Given the description of an element on the screen output the (x, y) to click on. 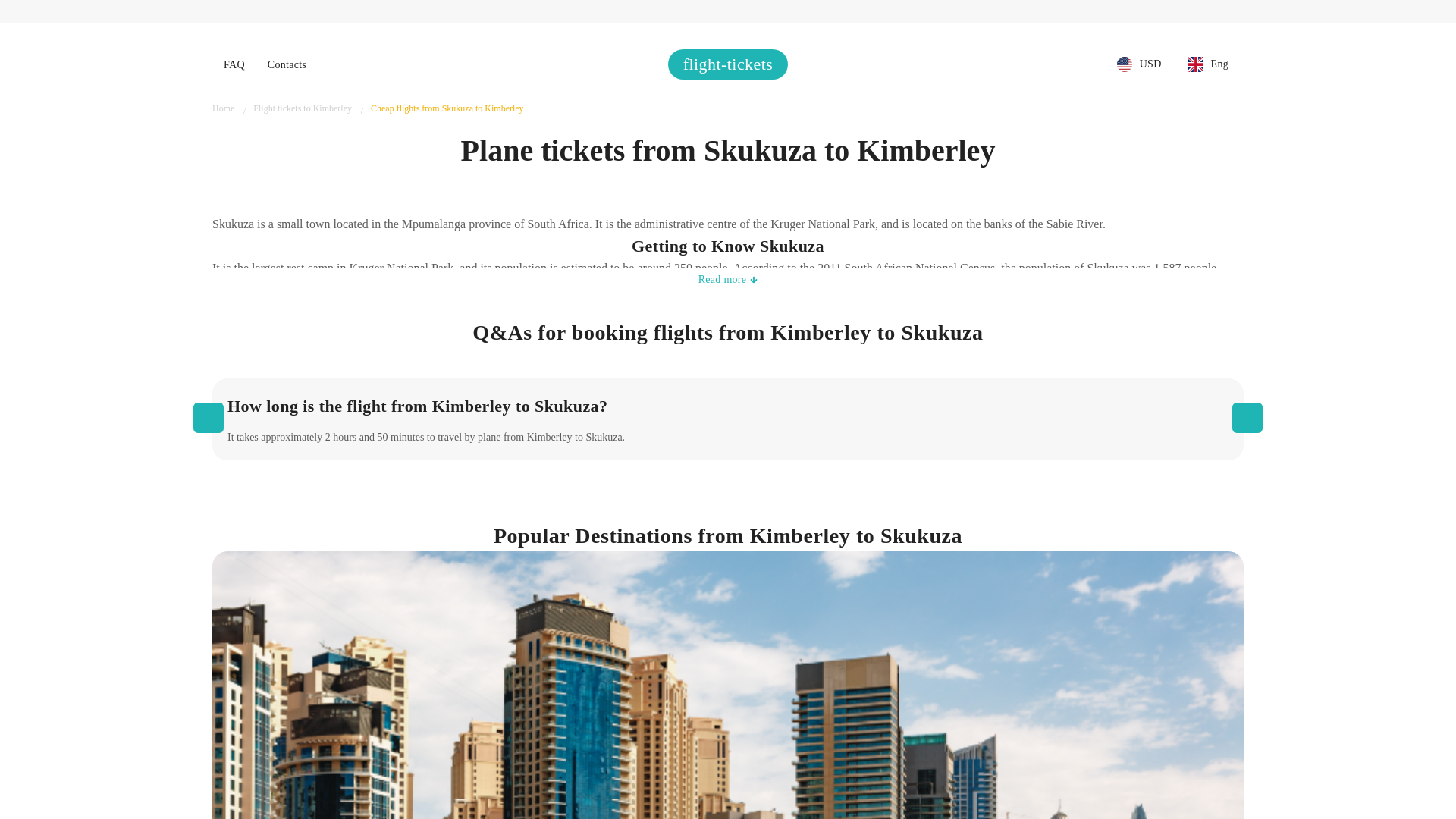
Cheap flights from Skukuza to Kimberley (447, 108)
Flight tickets to Kimberley (302, 108)
Home (223, 108)
flight-tickets (728, 64)
Contacts (286, 65)
FAQ (234, 65)
Read more (728, 279)
